Given the description of an element on the screen output the (x, y) to click on. 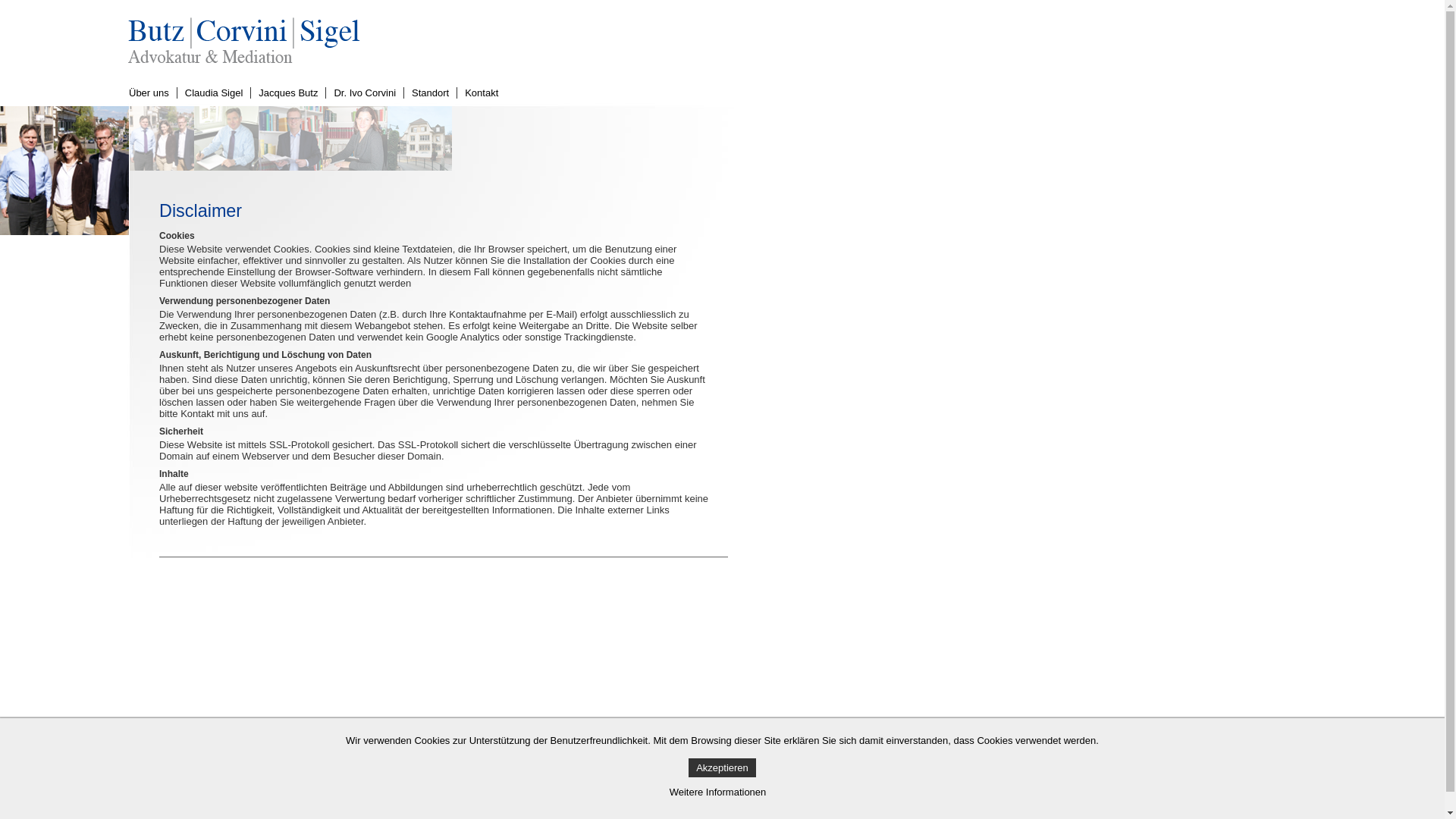
Standort Element type: text (430, 92)
Jacques Butz Element type: text (288, 92)
Weitere Informationen Element type: text (717, 791)
Claudia Sigel Element type: text (214, 92)
Kontakt Element type: text (481, 92)
Dr. Ivo Corvini Element type: text (365, 92)
Akzeptieren Element type: text (722, 767)
